Given the description of an element on the screen output the (x, y) to click on. 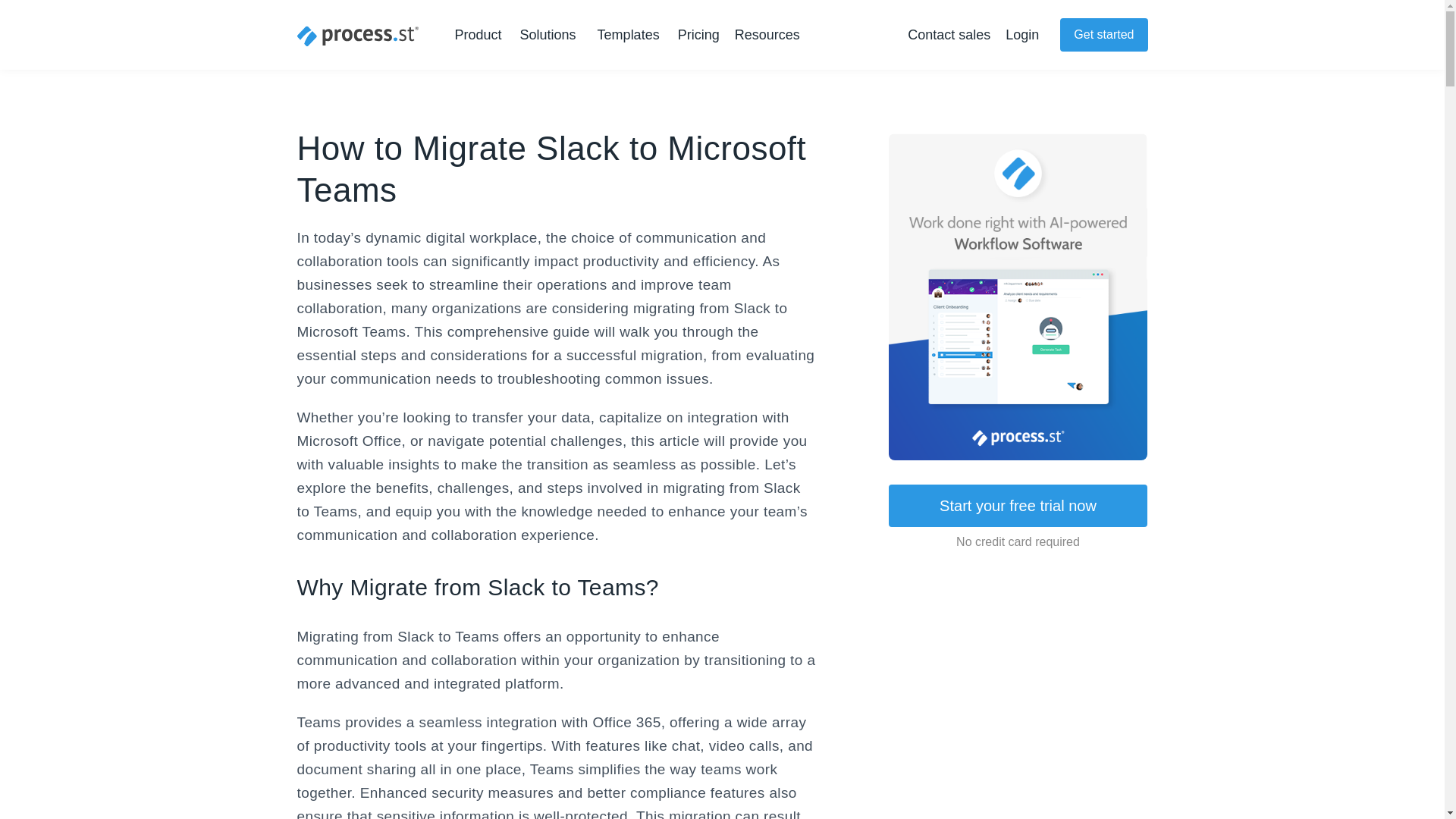
Templates (627, 34)
Pricing (698, 34)
Solutions (550, 34)
Contact sales (948, 34)
Process Street (358, 35)
Resources (770, 34)
Product (481, 34)
Login (1022, 34)
Get started (1103, 34)
